Given the description of an element on the screen output the (x, y) to click on. 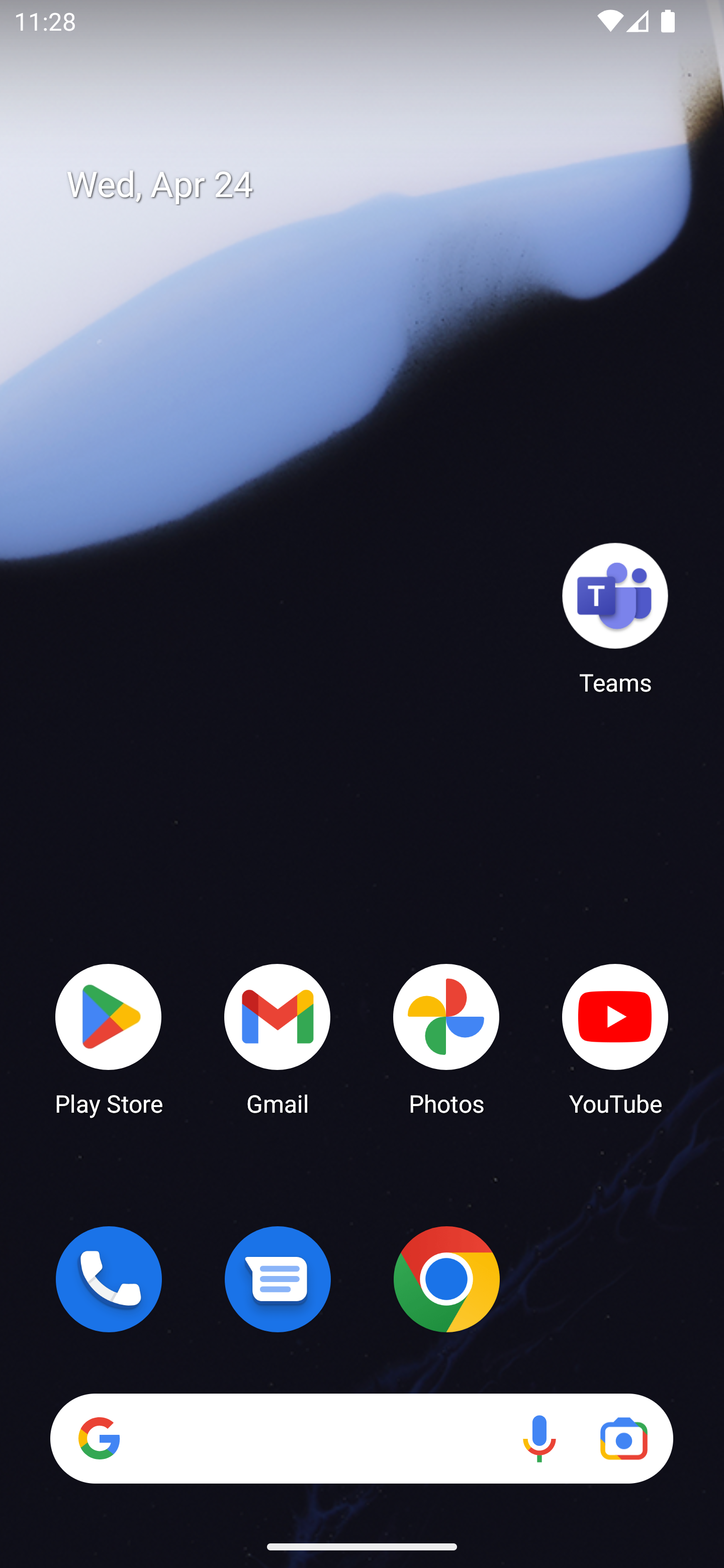
Wed, Apr 24 (375, 184)
Teams (615, 617)
Play Store (108, 1038)
Gmail (277, 1038)
Photos (445, 1038)
YouTube (615, 1038)
Phone (108, 1279)
Messages (277, 1279)
Chrome (446, 1279)
Search Voice search Google Lens (361, 1438)
Voice search (539, 1438)
Google Lens (623, 1438)
